Given the description of an element on the screen output the (x, y) to click on. 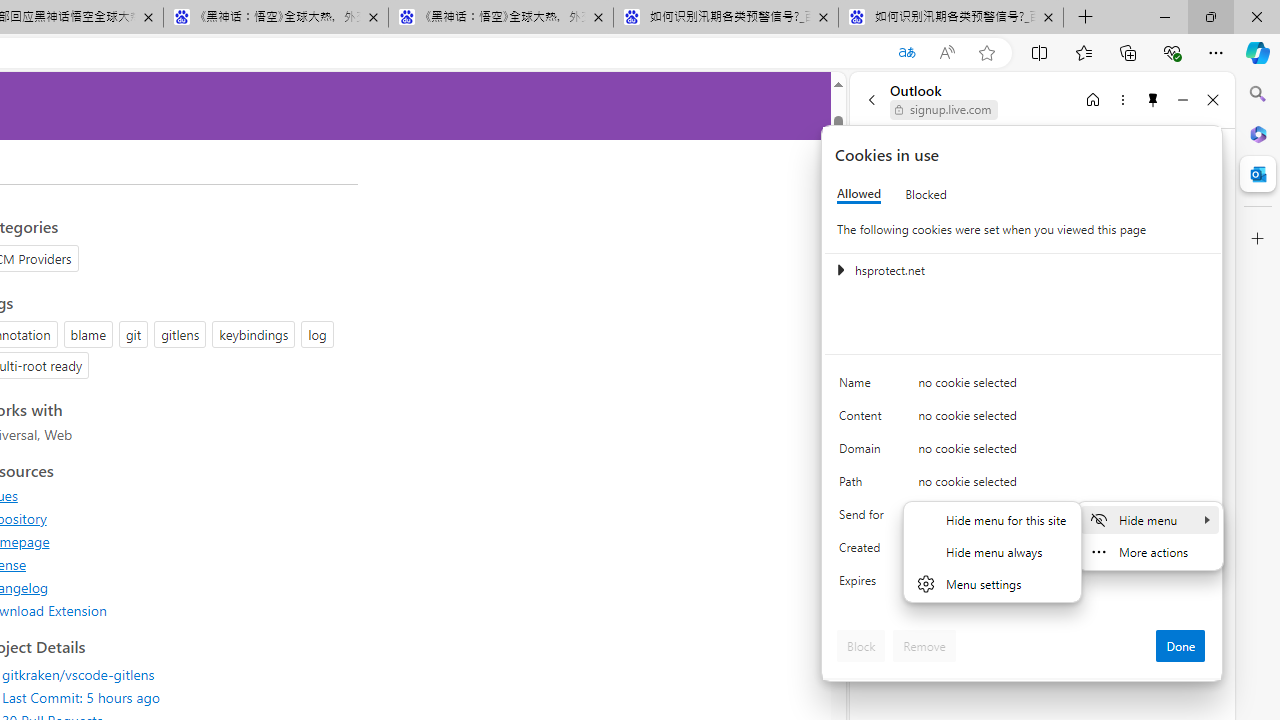
Hide menu always (992, 551)
Hide menu (992, 563)
Class: c0153 c0157 c0154 (1023, 386)
Created (864, 552)
Name (864, 387)
Mini menu on text selection (1149, 548)
More actions (1149, 551)
Allowed (859, 193)
Hide menu for this site (992, 519)
Blocked (925, 193)
Done (1179, 645)
Domain (864, 452)
Remove (924, 645)
Content (864, 420)
Mini menu on text selection (1149, 535)
